Given the description of an element on the screen output the (x, y) to click on. 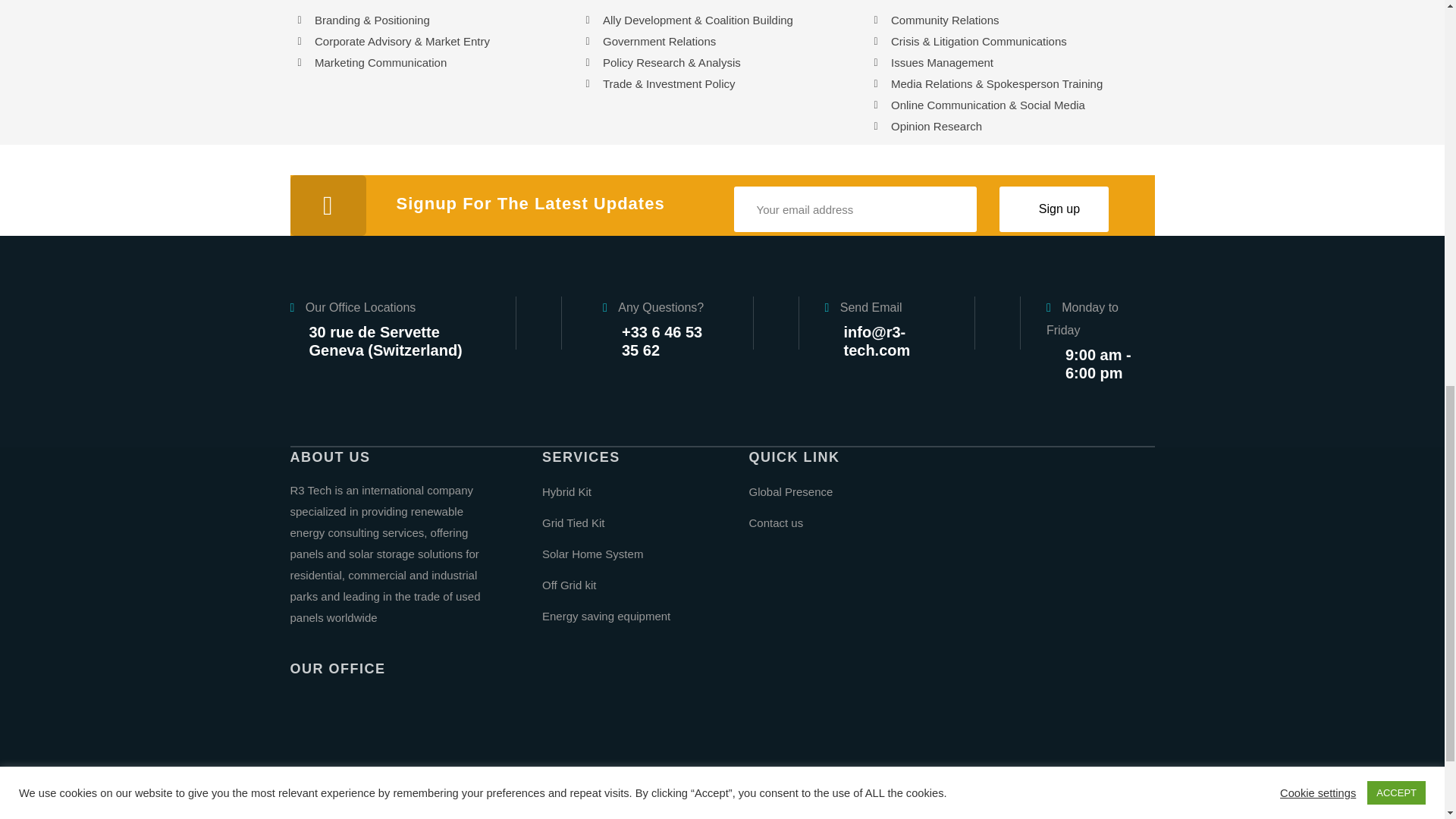
Sign up (1053, 208)
